Given the description of an element on the screen output the (x, y) to click on. 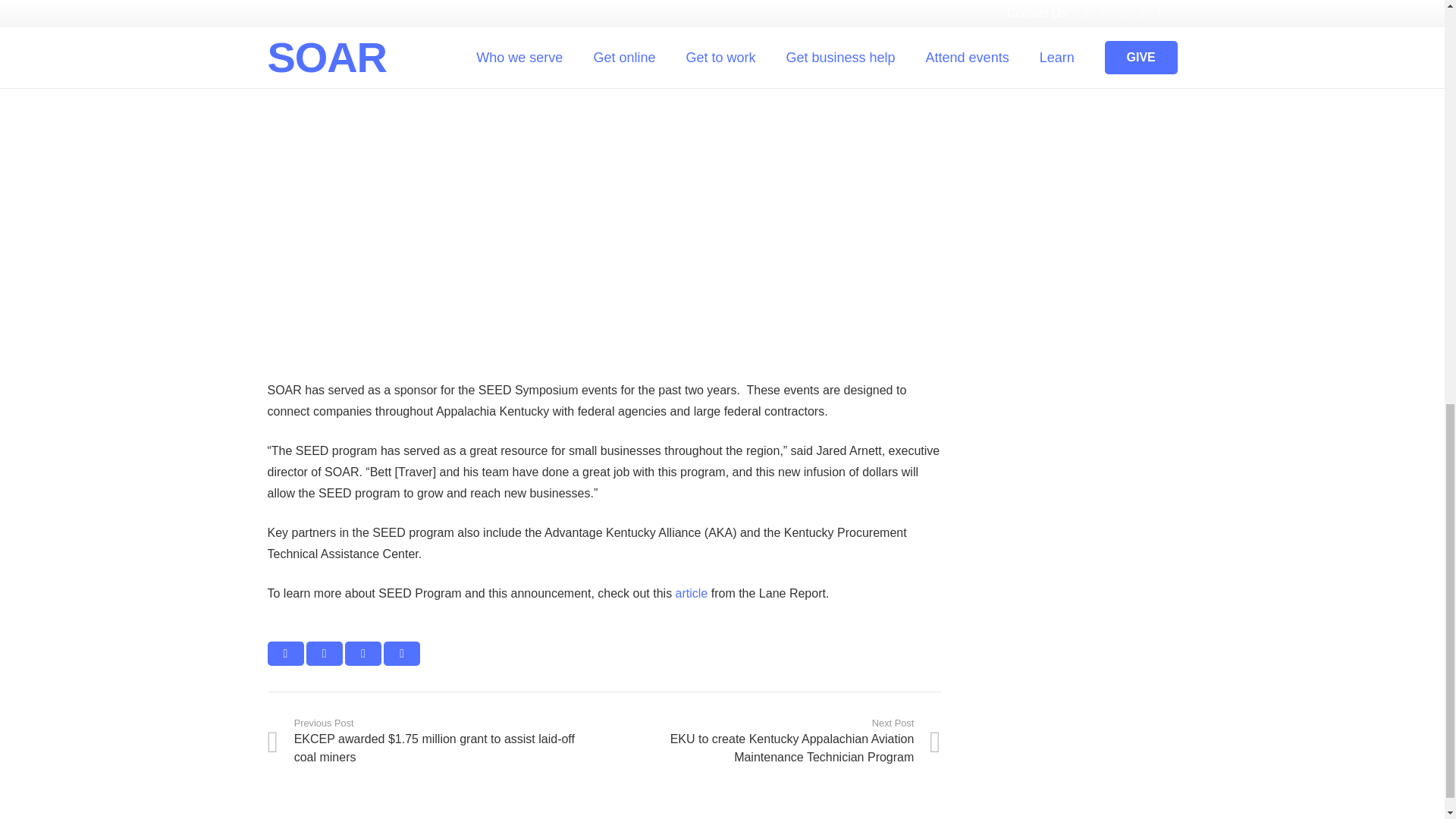
Share this (402, 653)
Share this (323, 653)
Email this (284, 653)
Tweet this (363, 653)
article (691, 593)
